Given the description of an element on the screen output the (x, y) to click on. 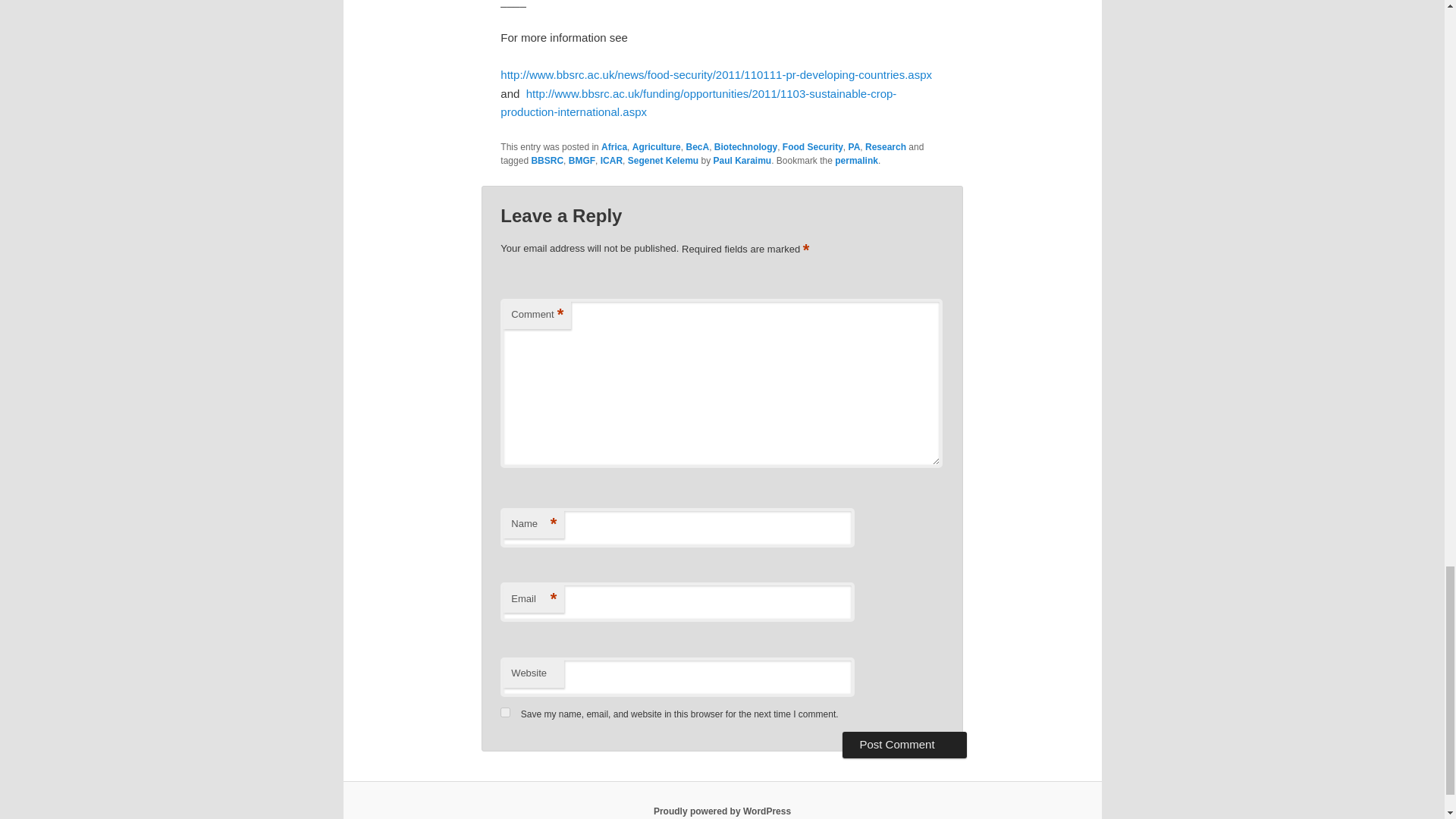
Biotechnology (745, 146)
Segenet Kelemu (662, 160)
BMGF (582, 160)
Post Comment (904, 744)
BecA (697, 146)
yes (505, 712)
Research (884, 146)
Africa (614, 146)
permalink (855, 160)
Proudly powered by WordPress (721, 810)
ICAR (611, 160)
Semantic Personal Publishing Platform (721, 810)
Post Comment (904, 744)
Food Security (813, 146)
PA (854, 146)
